Given the description of an element on the screen output the (x, y) to click on. 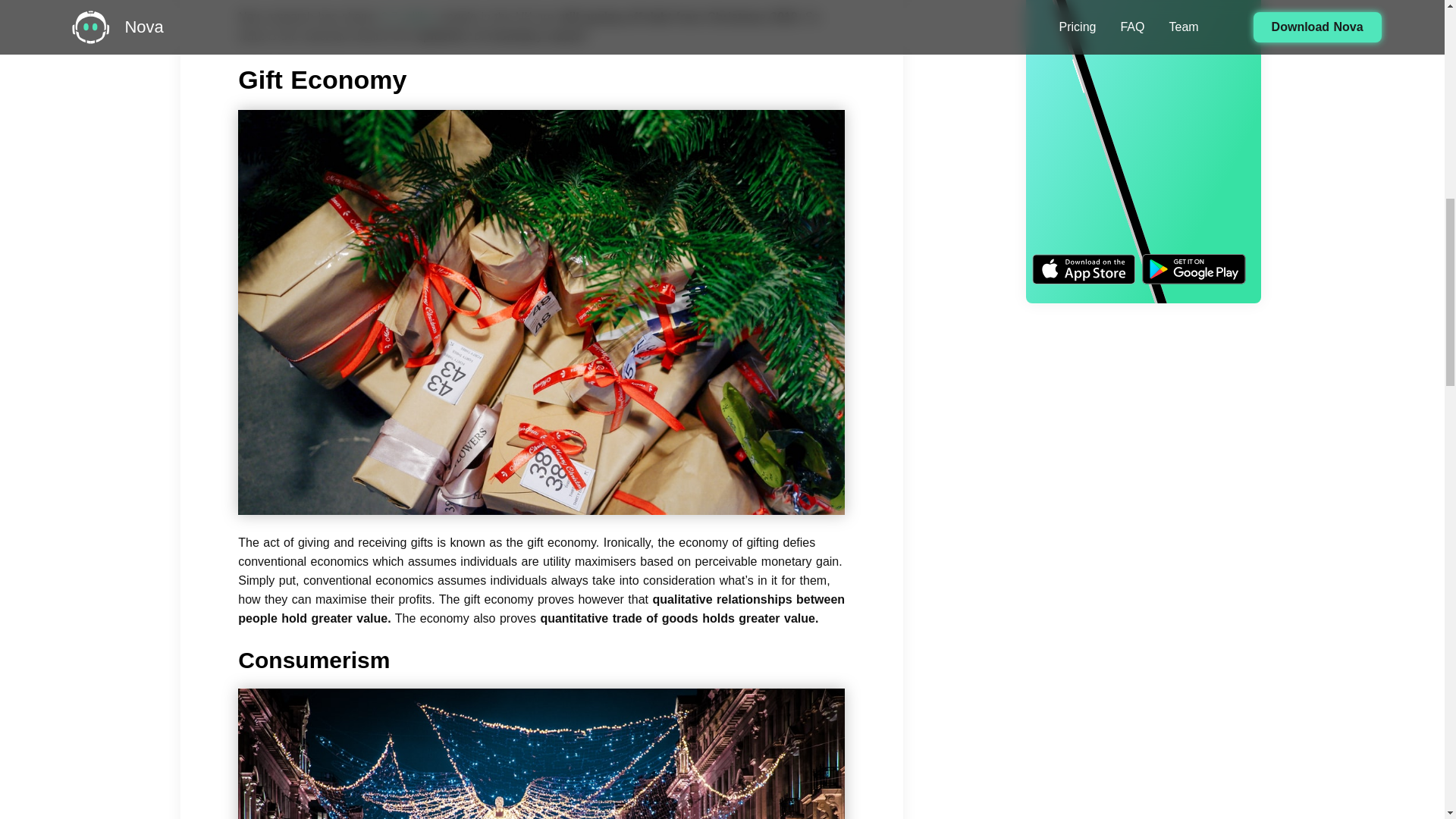
2.7 million (407, 17)
